Given the description of an element on the screen output the (x, y) to click on. 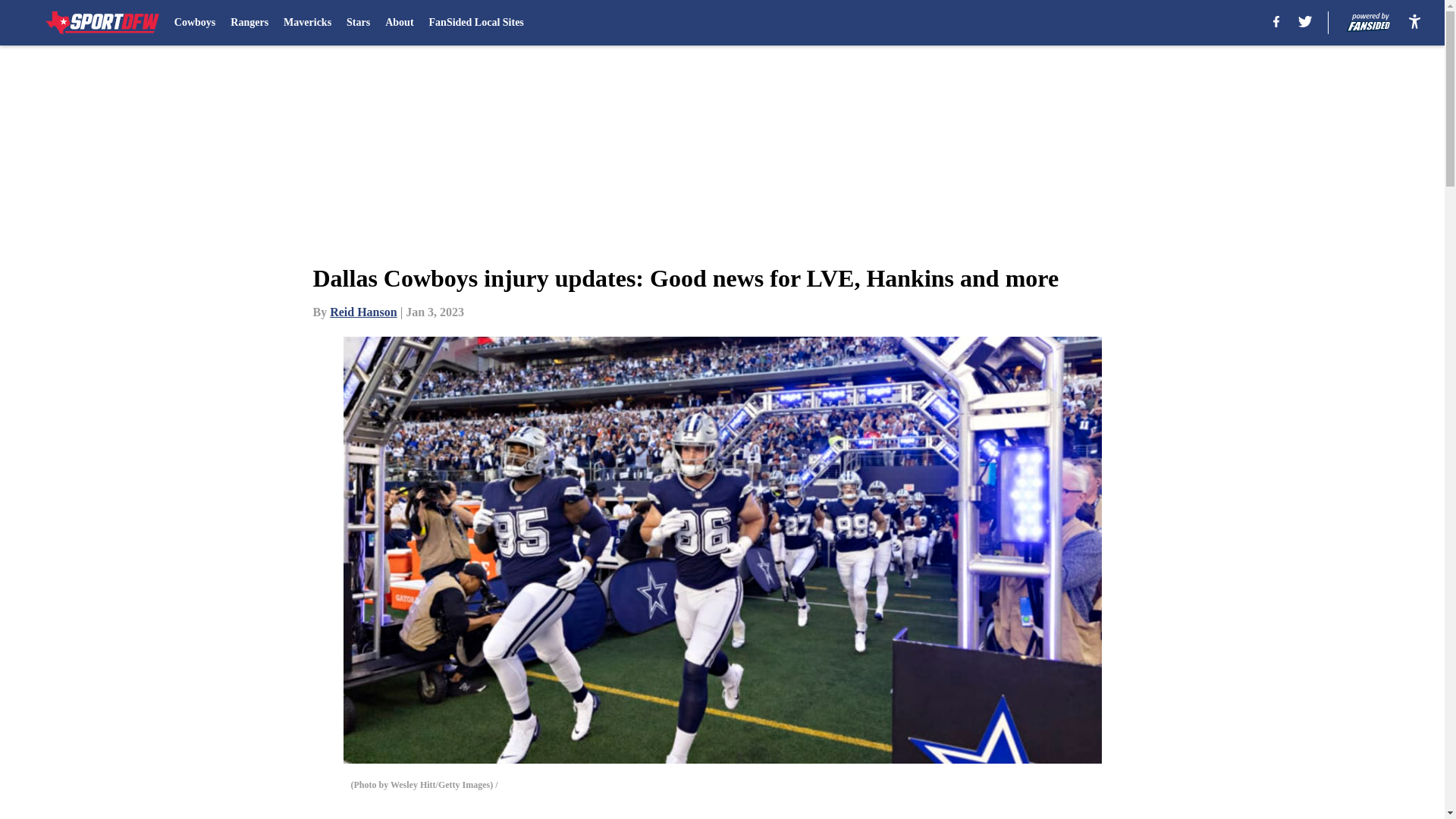
FanSided Local Sites (476, 22)
Cowboys (194, 22)
Rangers (248, 22)
Reid Hanson (363, 311)
Stars (357, 22)
Mavericks (307, 22)
About (399, 22)
